Given the description of an element on the screen output the (x, y) to click on. 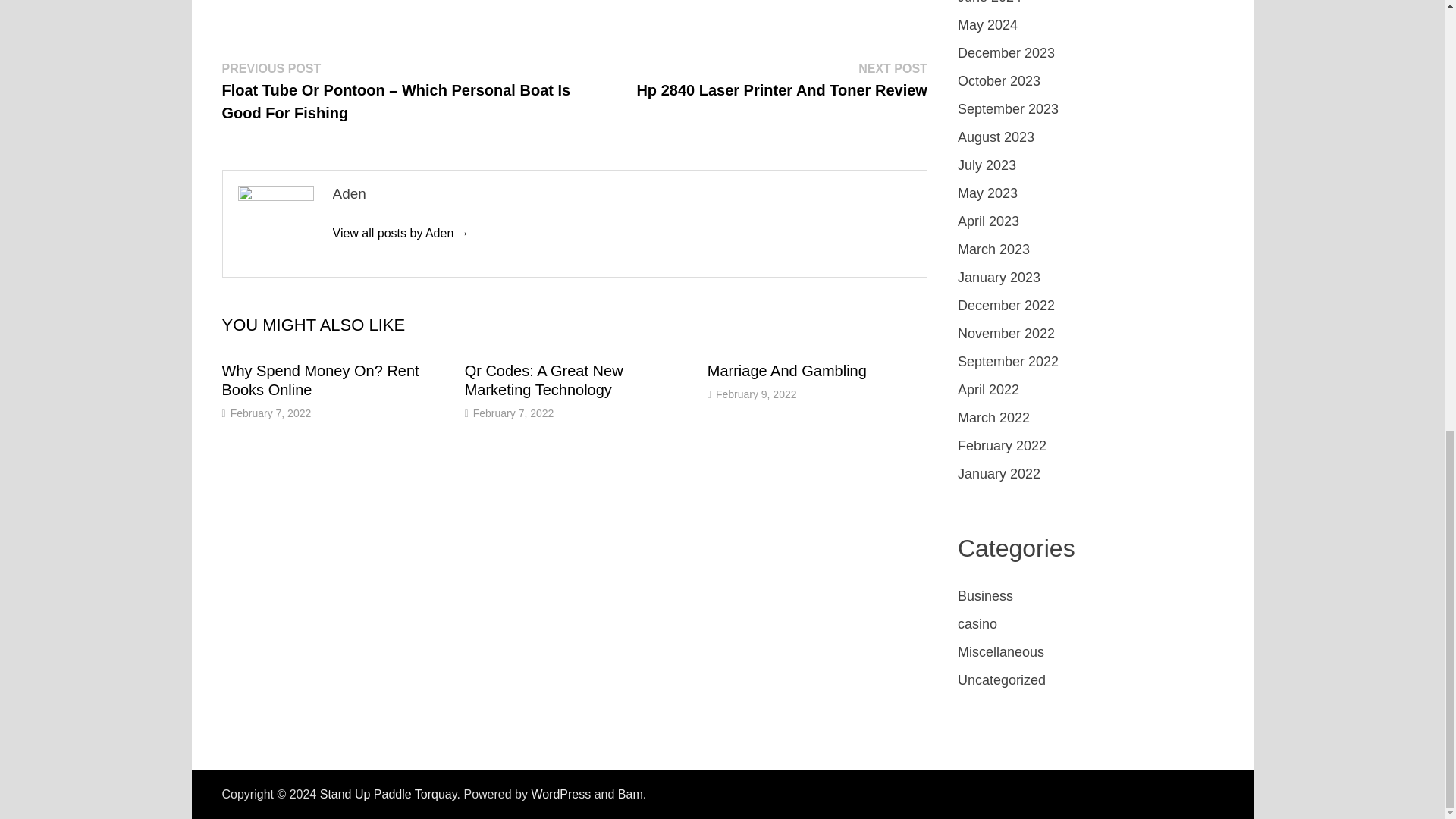
February 7, 2022 (513, 413)
September 2023 (1008, 109)
Marriage And Gambling (786, 370)
June 2024 (990, 2)
February 9, 2022 (756, 394)
Aden (781, 79)
Qr Codes: A Great New Marketing Technology (399, 232)
Why Spend Money On? Rent Books Online (543, 380)
Qr Codes: A Great New Marketing Technology (320, 380)
Why Spend Money On? Rent Books Online (543, 380)
Marriage And Gambling (320, 380)
February 7, 2022 (786, 370)
October 2023 (270, 413)
May 2024 (999, 79)
